Given the description of an element on the screen output the (x, y) to click on. 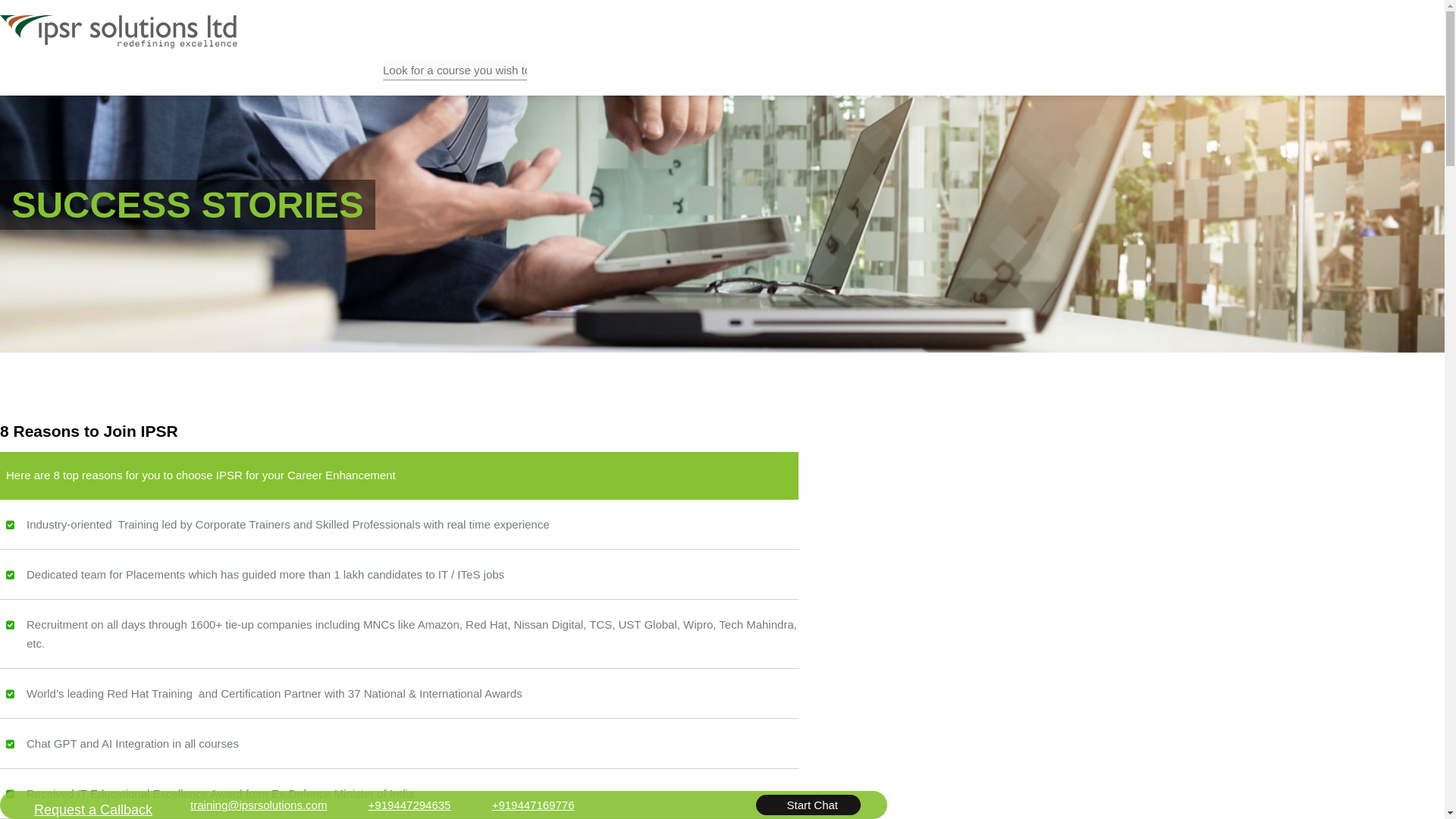
IPSR Info (96, 79)
Home (29, 79)
IPSR Info (96, 79)
Courses (170, 79)
Home (29, 79)
Courses (170, 79)
